Given the description of an element on the screen output the (x, y) to click on. 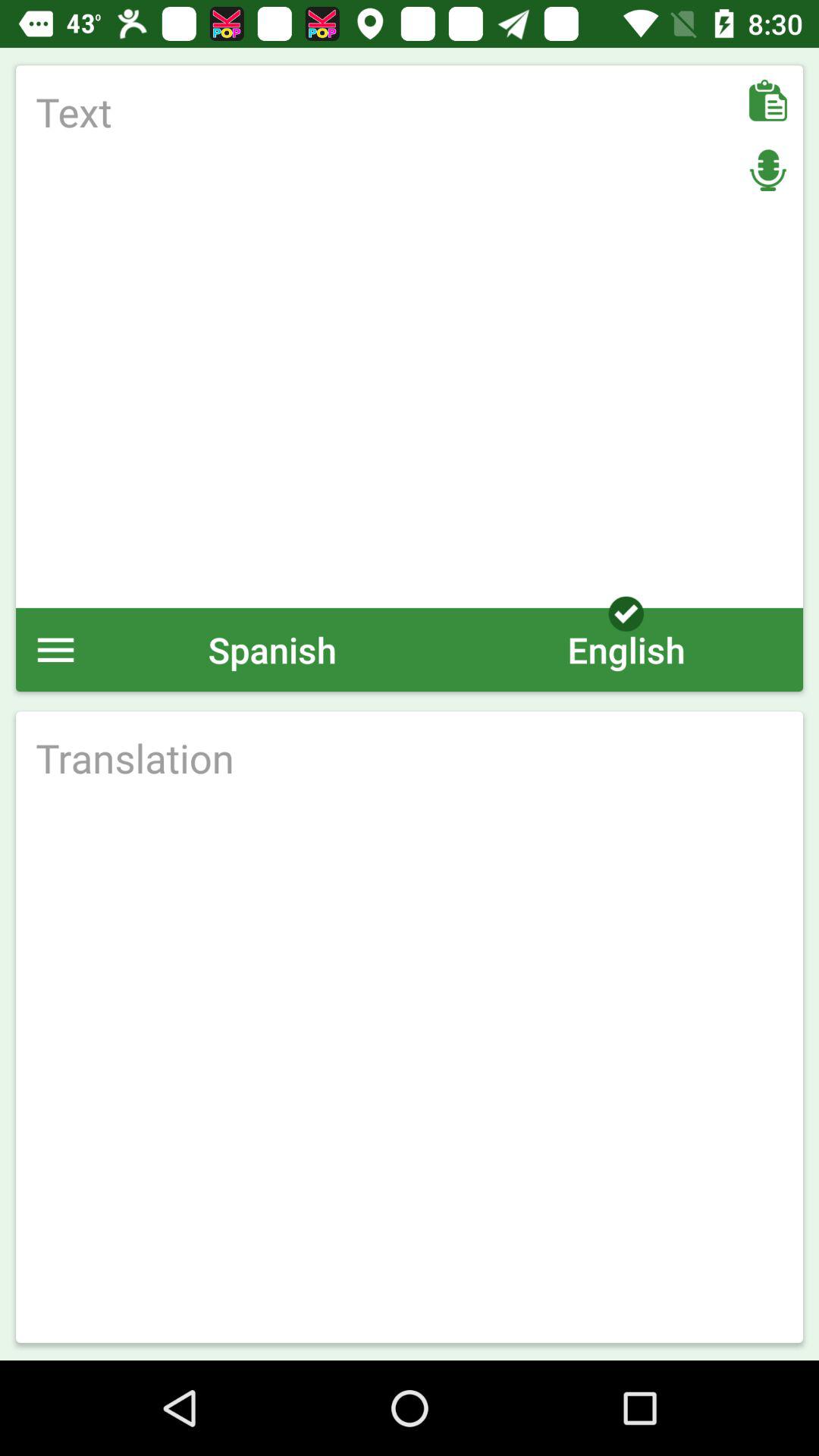
see menu (55, 649)
